Given the description of an element on the screen output the (x, y) to click on. 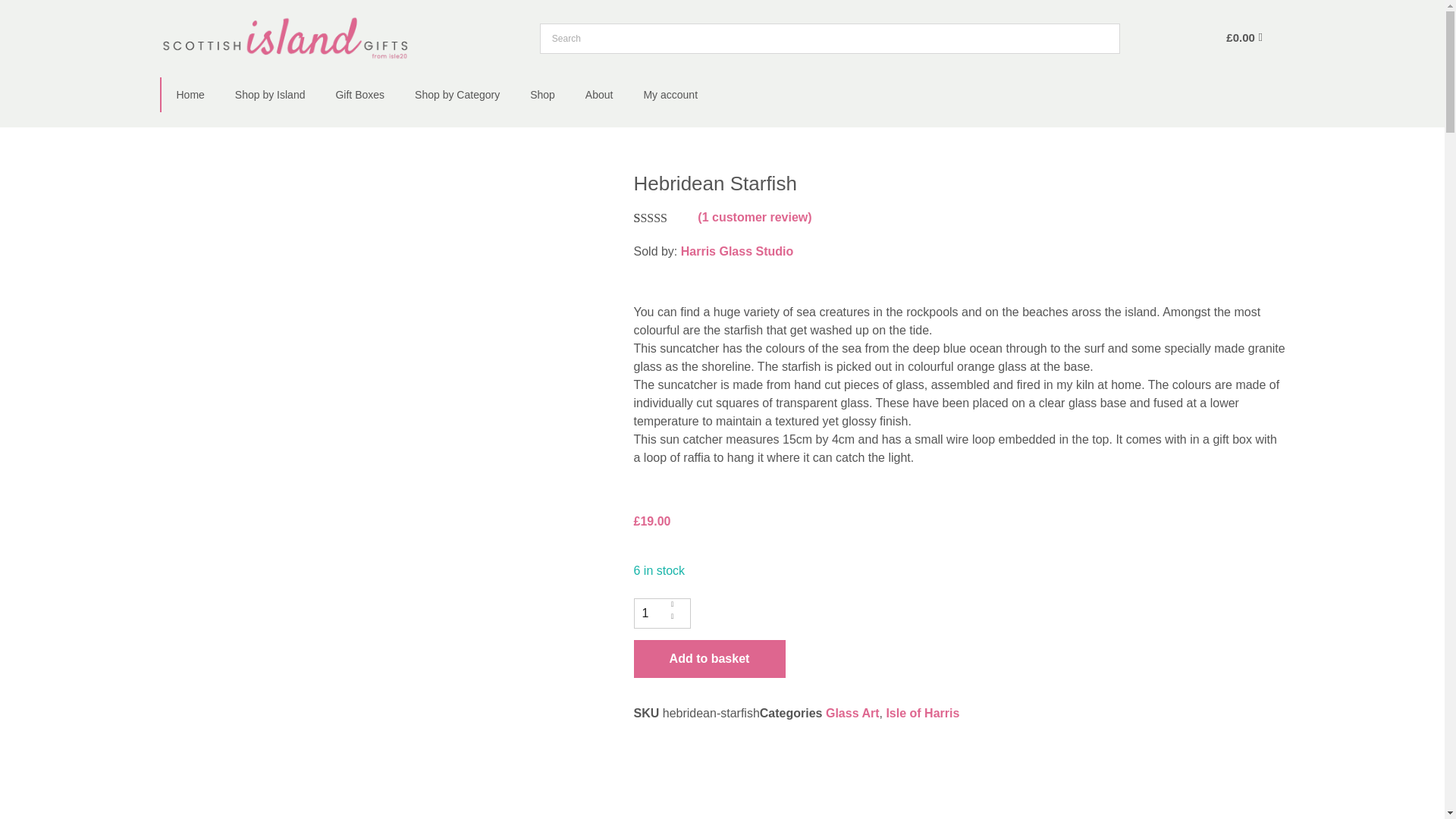
My account (670, 94)
Gift Boxes (359, 94)
Shop by Category (456, 94)
1 (661, 613)
Shop (542, 94)
About (599, 94)
Shop by Island (269, 94)
Home (189, 94)
